Given the description of an element on the screen output the (x, y) to click on. 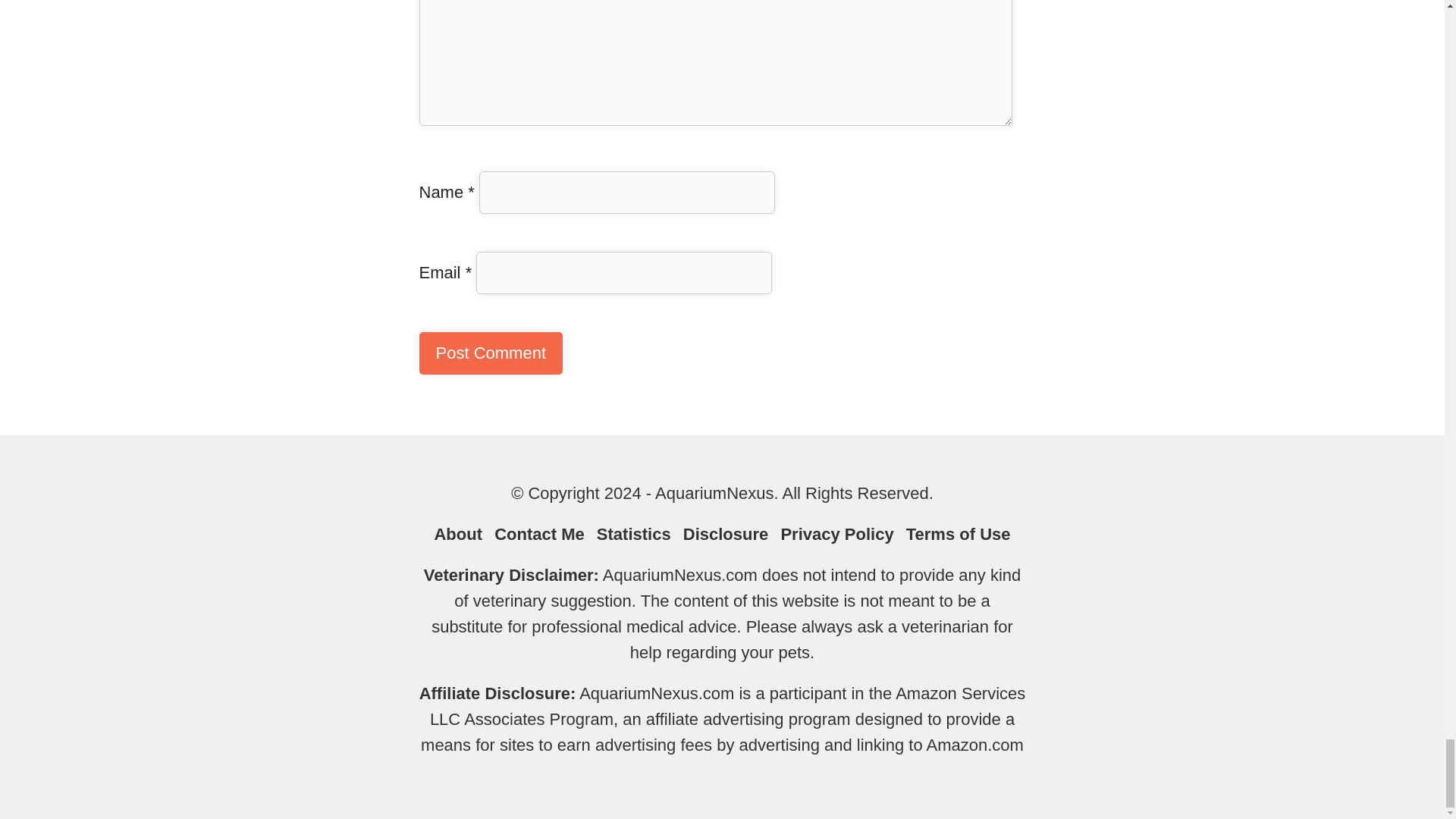
Terms of Use (957, 533)
Disclosure (725, 533)
Contact Me (540, 533)
Statistics (633, 533)
Post Comment (490, 353)
Post Comment (490, 353)
Privacy Policy (836, 533)
About (457, 533)
